Given the description of an element on the screen output the (x, y) to click on. 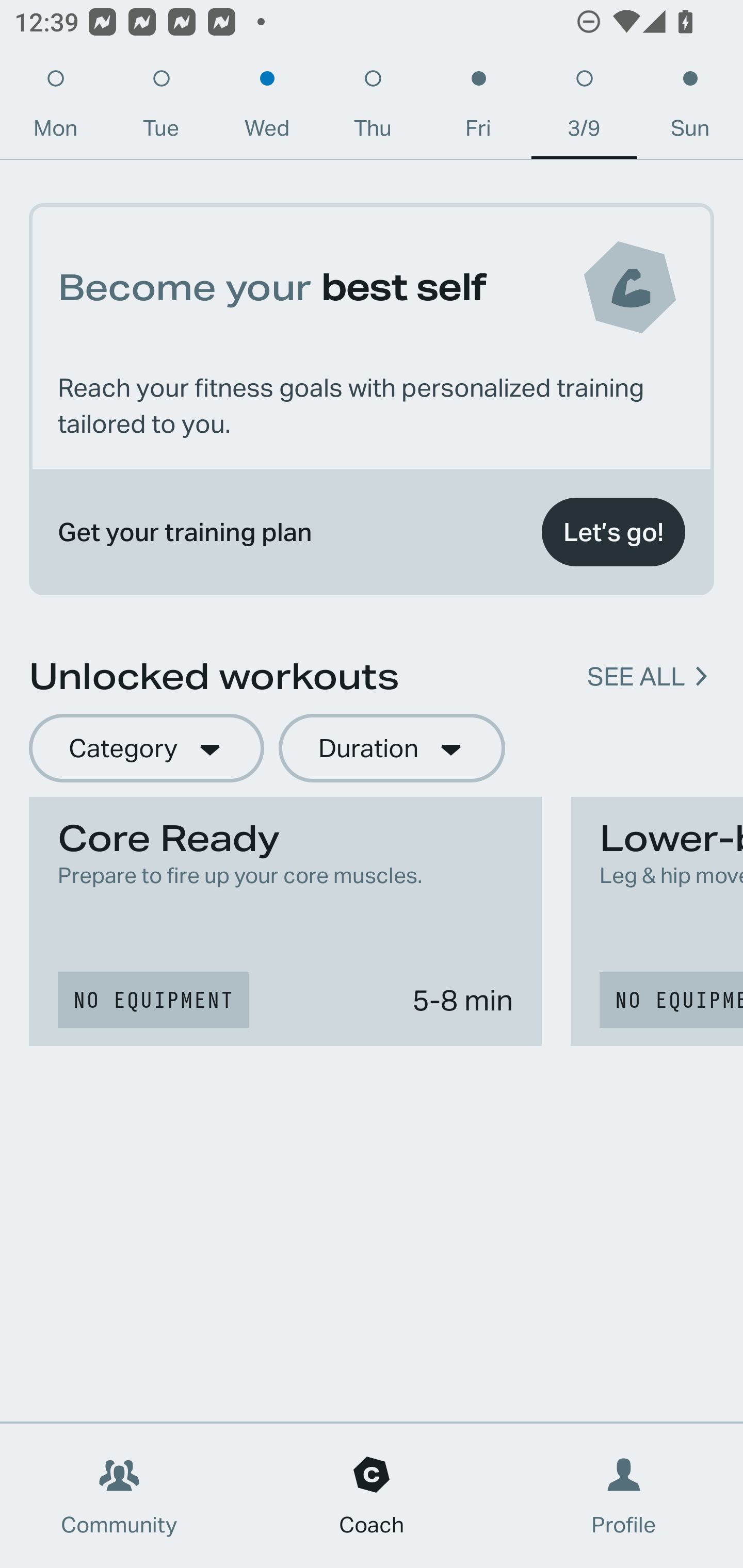
Mon (55, 108)
Tue (160, 108)
Wed (266, 108)
Thu (372, 108)
Fri (478, 108)
3/9 (584, 108)
Sun (690, 108)
Let’s go! (613, 532)
SEE ALL (635, 676)
Category (146, 748)
Duration (391, 748)
Community (119, 1495)
Profile (624, 1495)
